Given the description of an element on the screen output the (x, y) to click on. 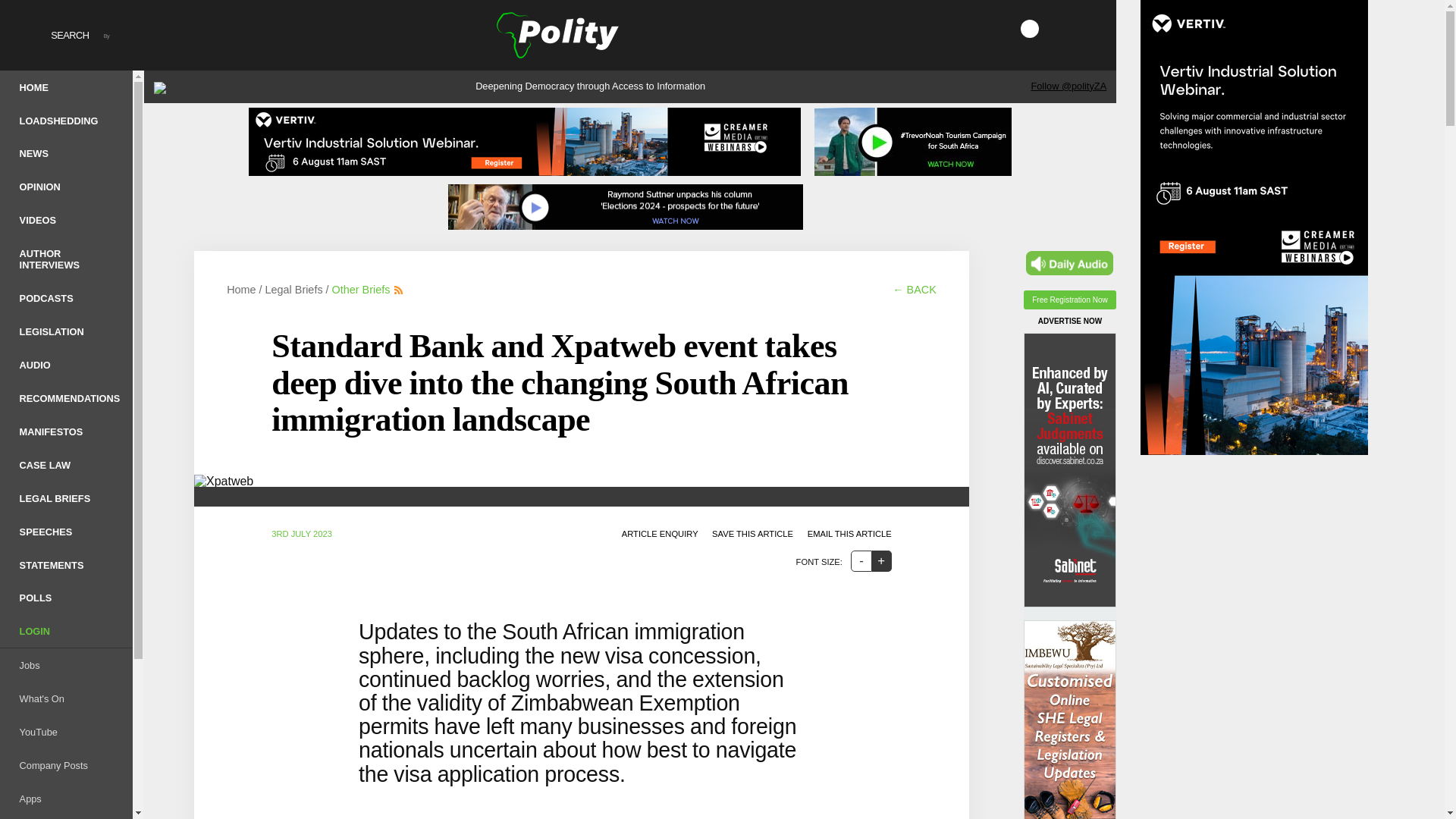
LEGISLATION (66, 331)
OPINION (66, 186)
VIDEOS (66, 219)
Facebook (1007, 28)
PODCASTS (66, 297)
AUTHOR INTERVIEWS (66, 258)
NEWS (66, 153)
Youtube (1050, 28)
LOADSHEDDING (66, 120)
SEARCH (49, 34)
Instagram (1072, 28)
LinkedIn (1094, 28)
Twitter (1029, 28)
HOME (66, 87)
